Given the description of an element on the screen output the (x, y) to click on. 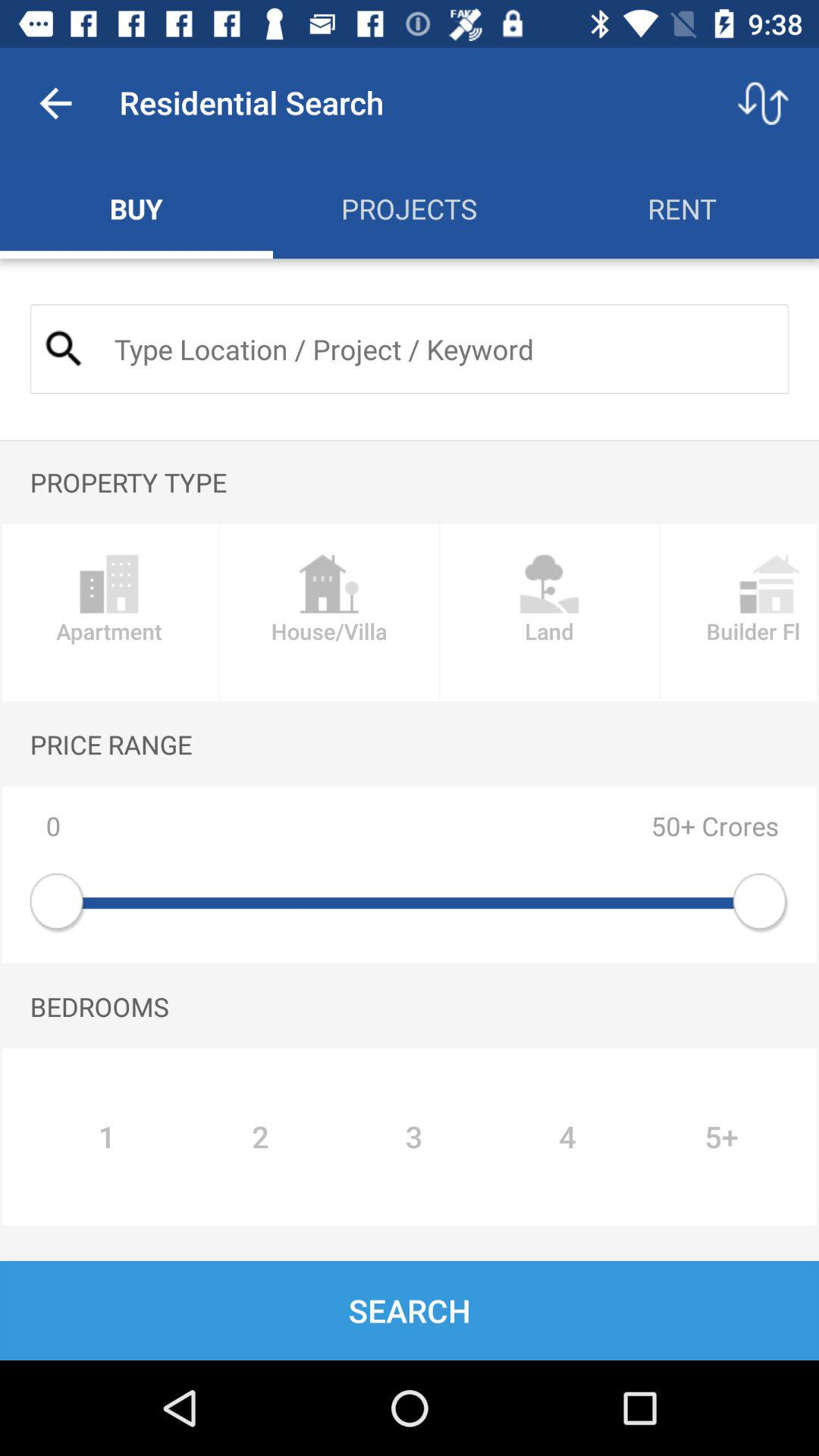
press 2 (260, 1137)
